Given the description of an element on the screen output the (x, y) to click on. 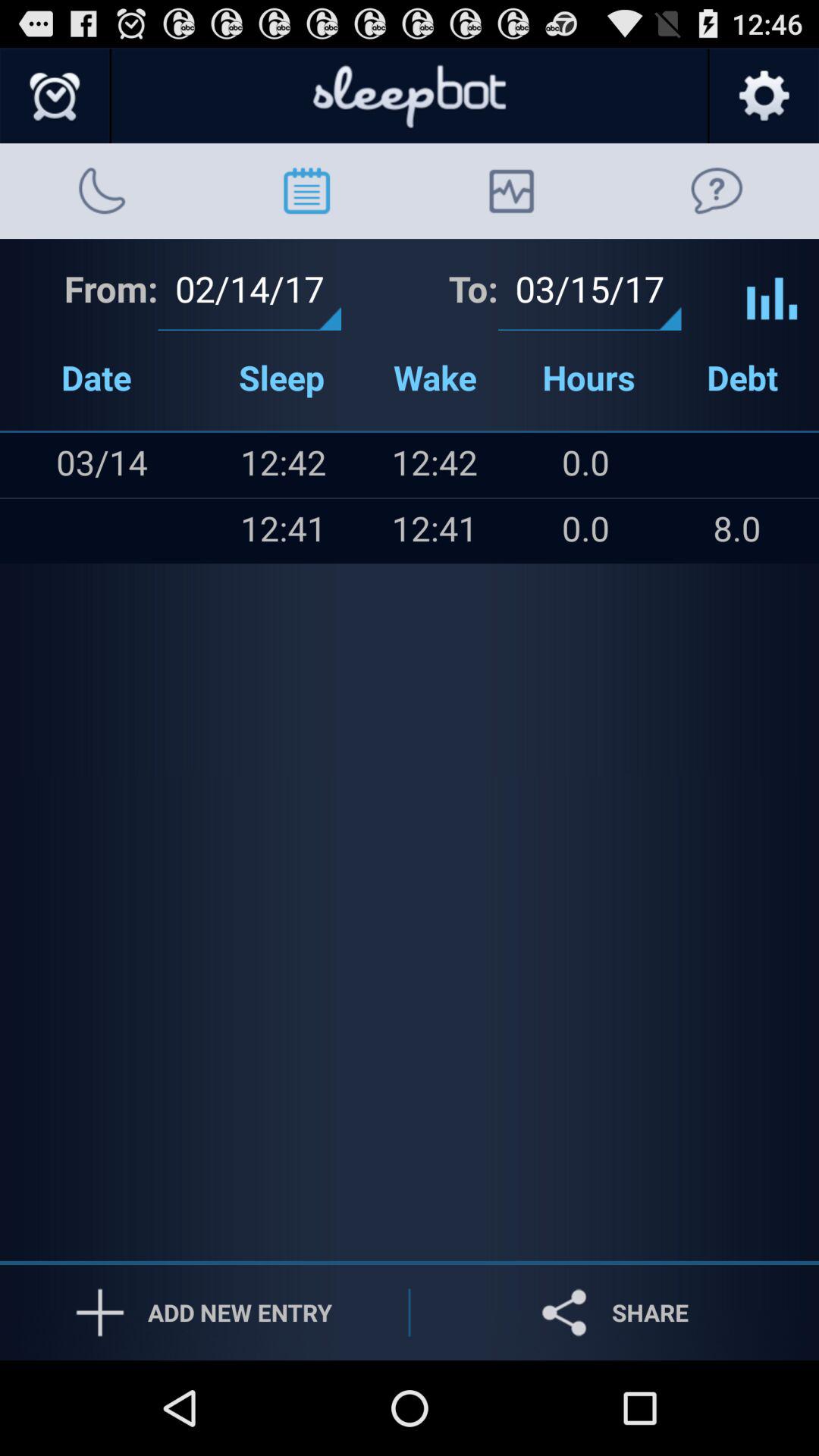
click the icon next to 03/14 icon (31, 531)
